Given the description of an element on the screen output the (x, y) to click on. 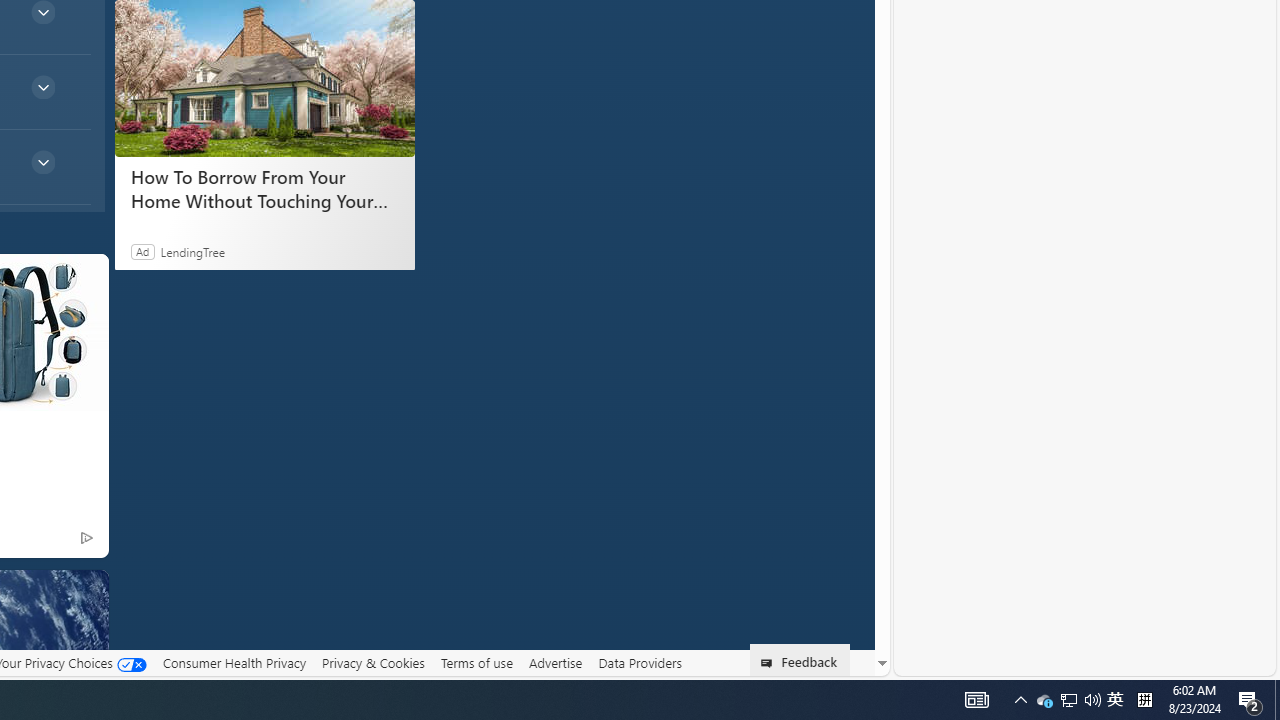
common/thinArrow (42, 161)
LendingTree (192, 251)
Data Providers (639, 662)
Data Providers (639, 663)
